Given the description of an element on the screen output the (x, y) to click on. 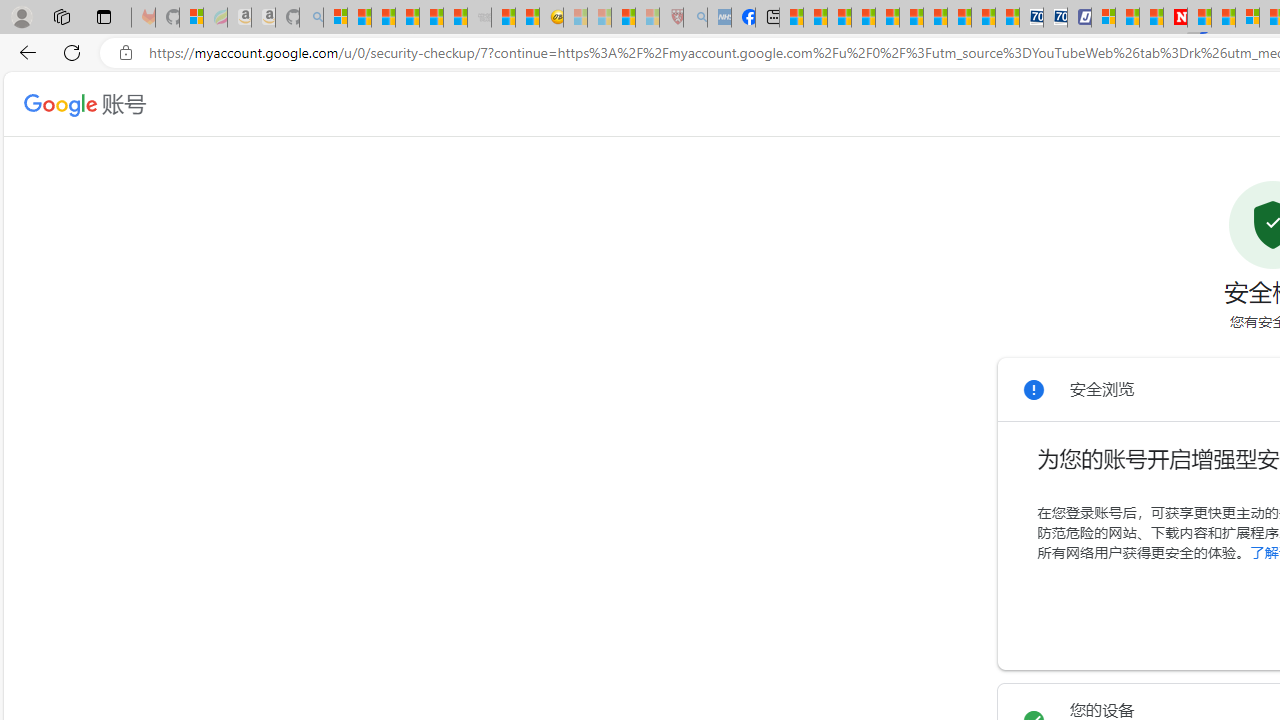
Combat Siege - Sleeping (479, 17)
12 Popular Science Lies that Must be Corrected - Sleeping (647, 17)
Cheap Car Rentals - Save70.com (1031, 17)
Cheap Hotels - Save70.com (1055, 17)
